Given the description of an element on the screen output the (x, y) to click on. 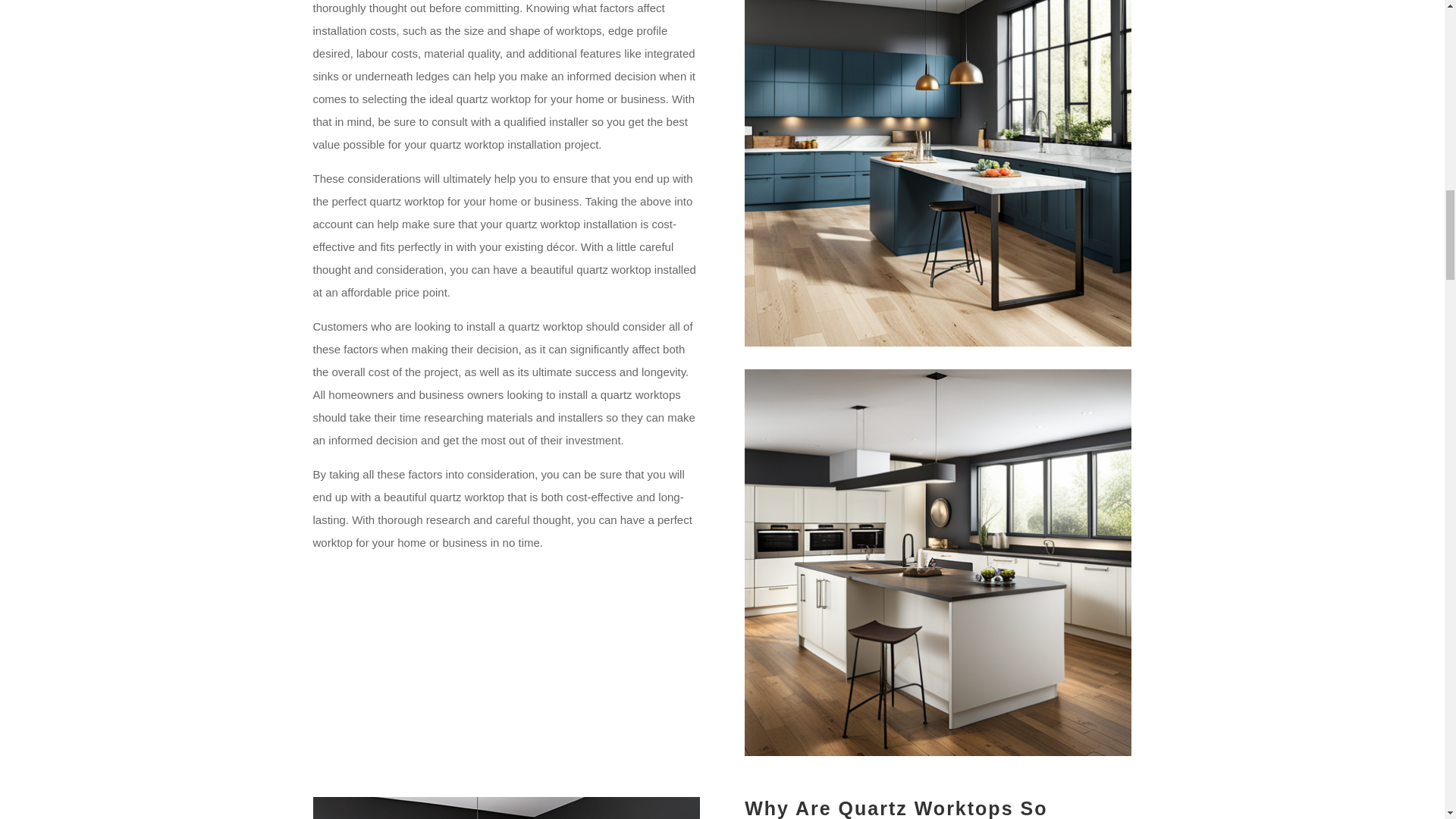
quartz kitchen worktops 2 (505, 807)
